Given the description of an element on the screen output the (x, y) to click on. 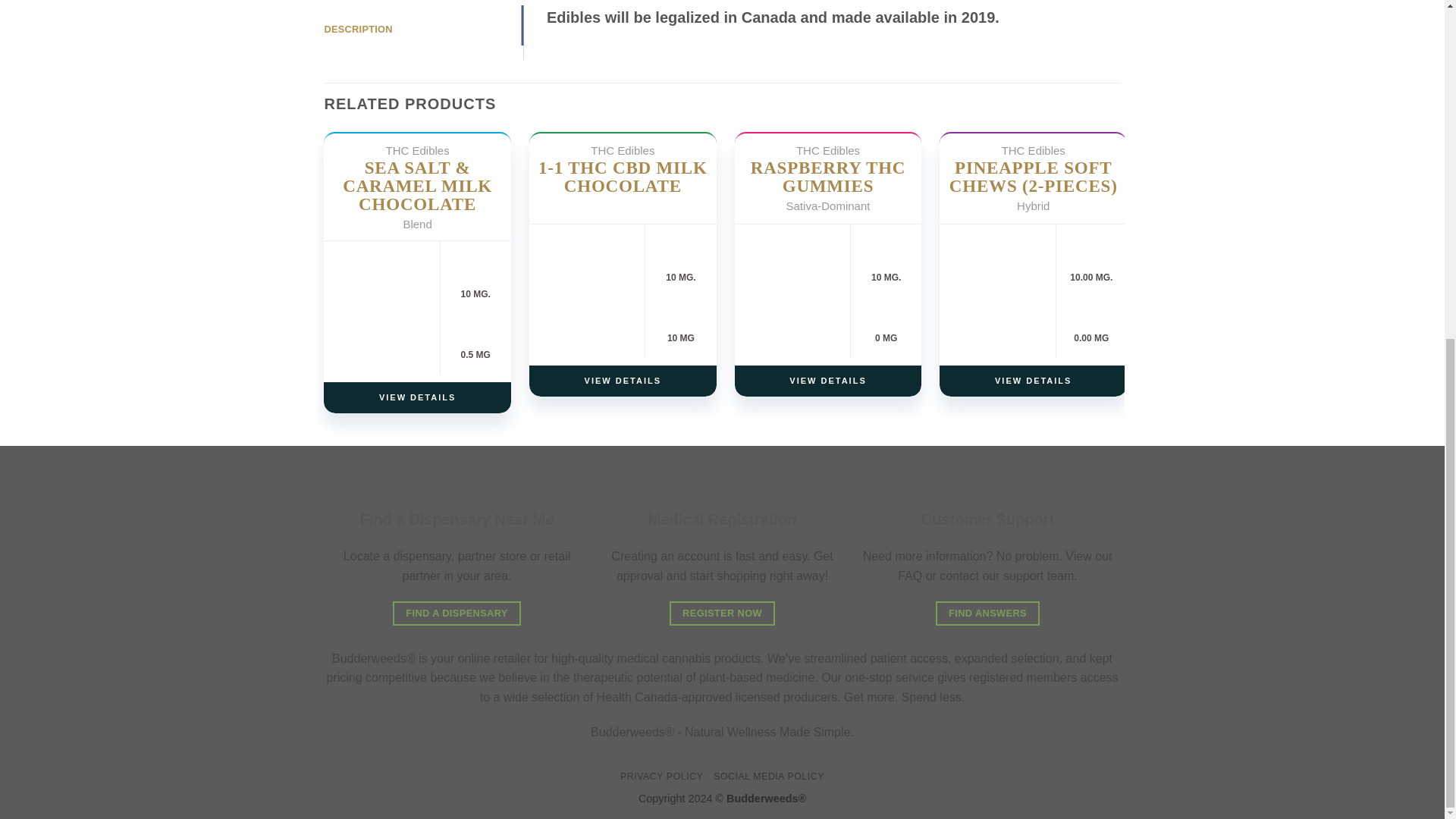
VIEW DETAILS (417, 397)
DESCRIPTION (424, 29)
VIEW DETAILS (622, 380)
VIEW DETAILS (828, 380)
